Given the description of an element on the screen output the (x, y) to click on. 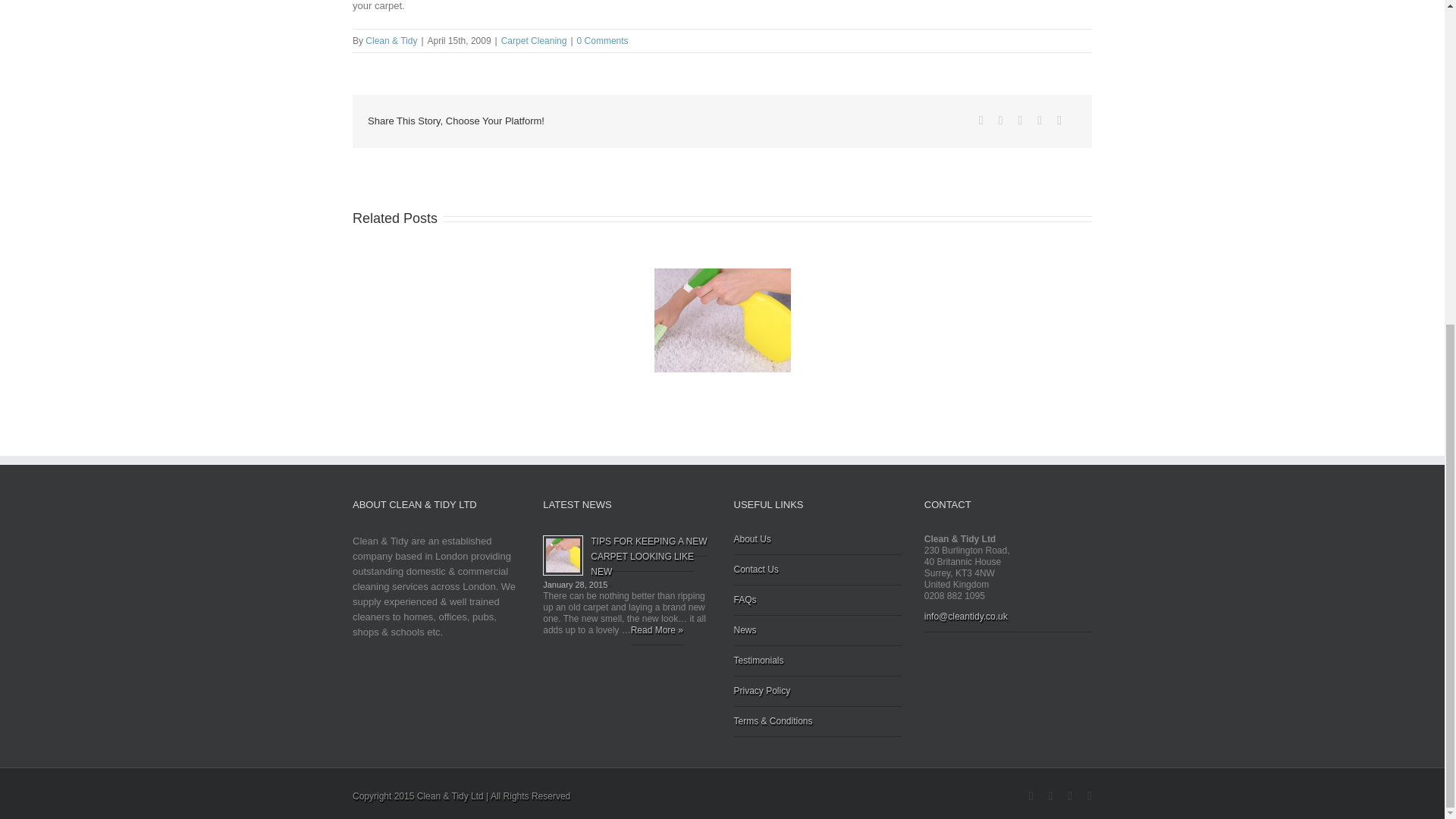
Permalink to Tips for Keeping a New Carpet Looking Like New (648, 557)
